Given the description of an element on the screen output the (x, y) to click on. 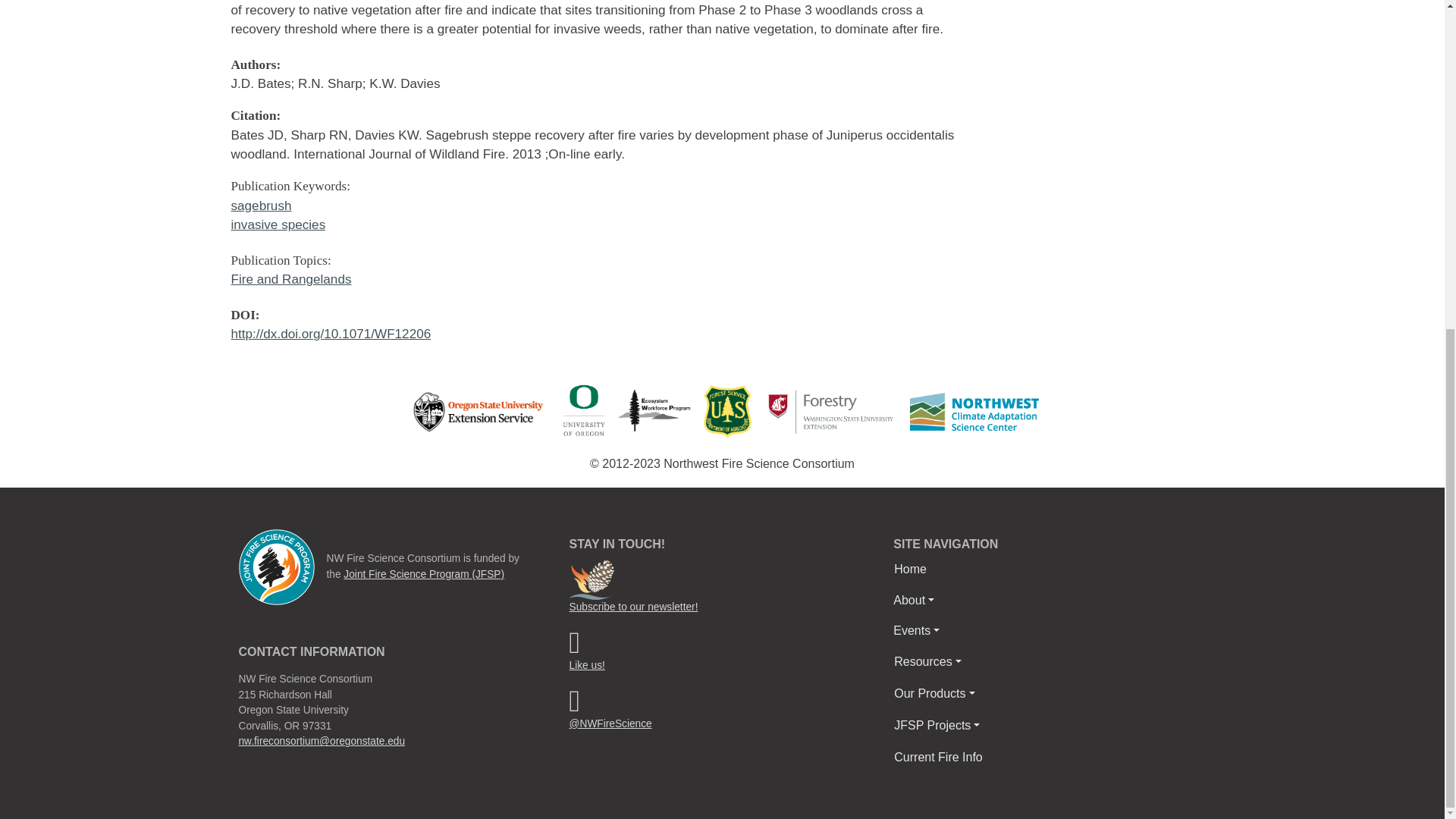
United States Forest Service (730, 410)
EWP (660, 411)
Oregon State Extension (478, 410)
University of Oregon (583, 410)
Ecosystem Workforce Program at University of Oregon (660, 410)
Joint Fire Science Program (276, 566)
Joint Fire Science Program (276, 566)
United States Forest Service (727, 411)
